Given the description of an element on the screen output the (x, y) to click on. 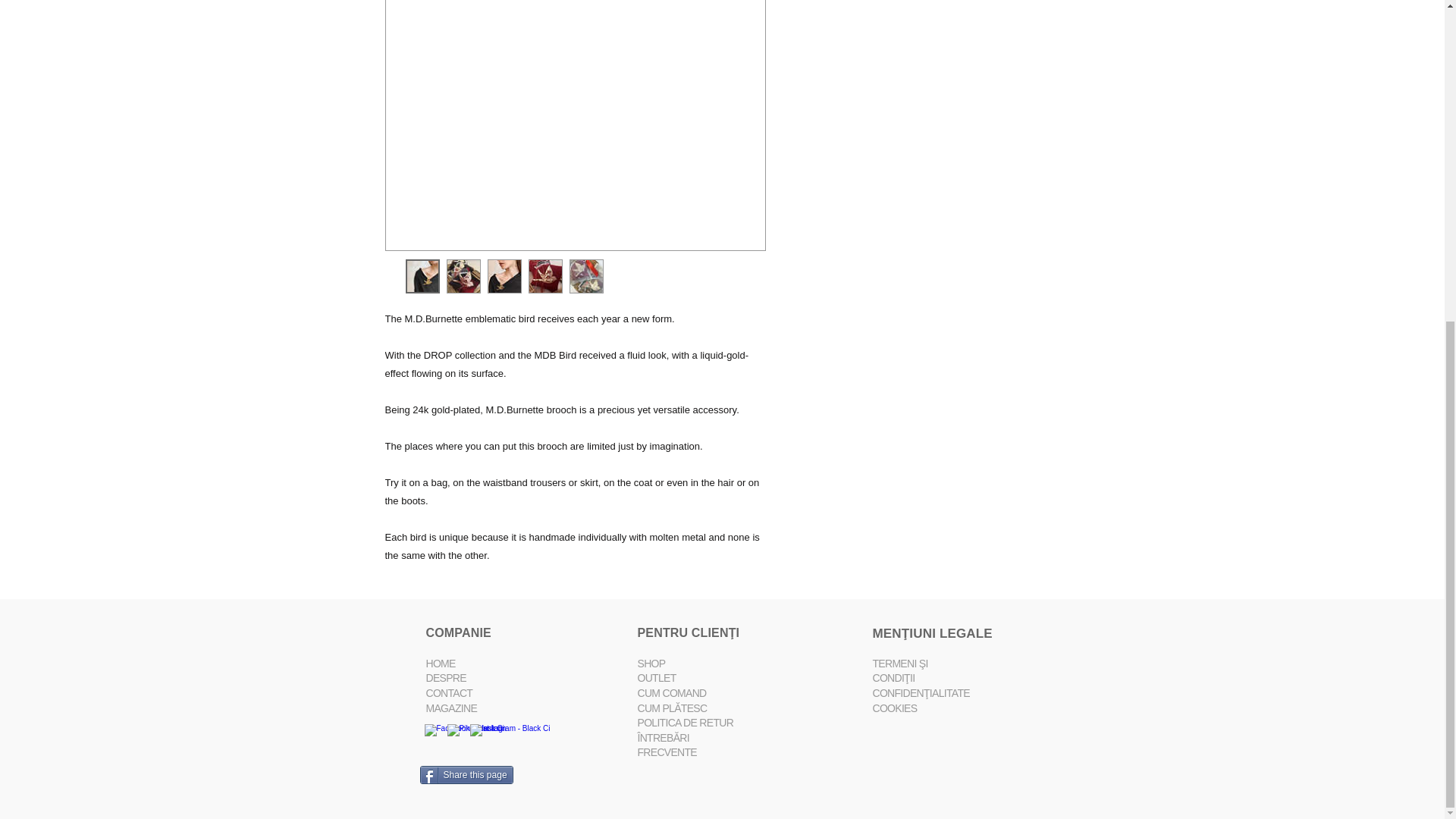
HOME (440, 663)
CONTACT (449, 693)
DESPRE (445, 677)
SHOP (651, 663)
MAGAZINE (451, 707)
Share this page (466, 774)
OUTLET (656, 677)
Share this page (466, 774)
